Given the description of an element on the screen output the (x, y) to click on. 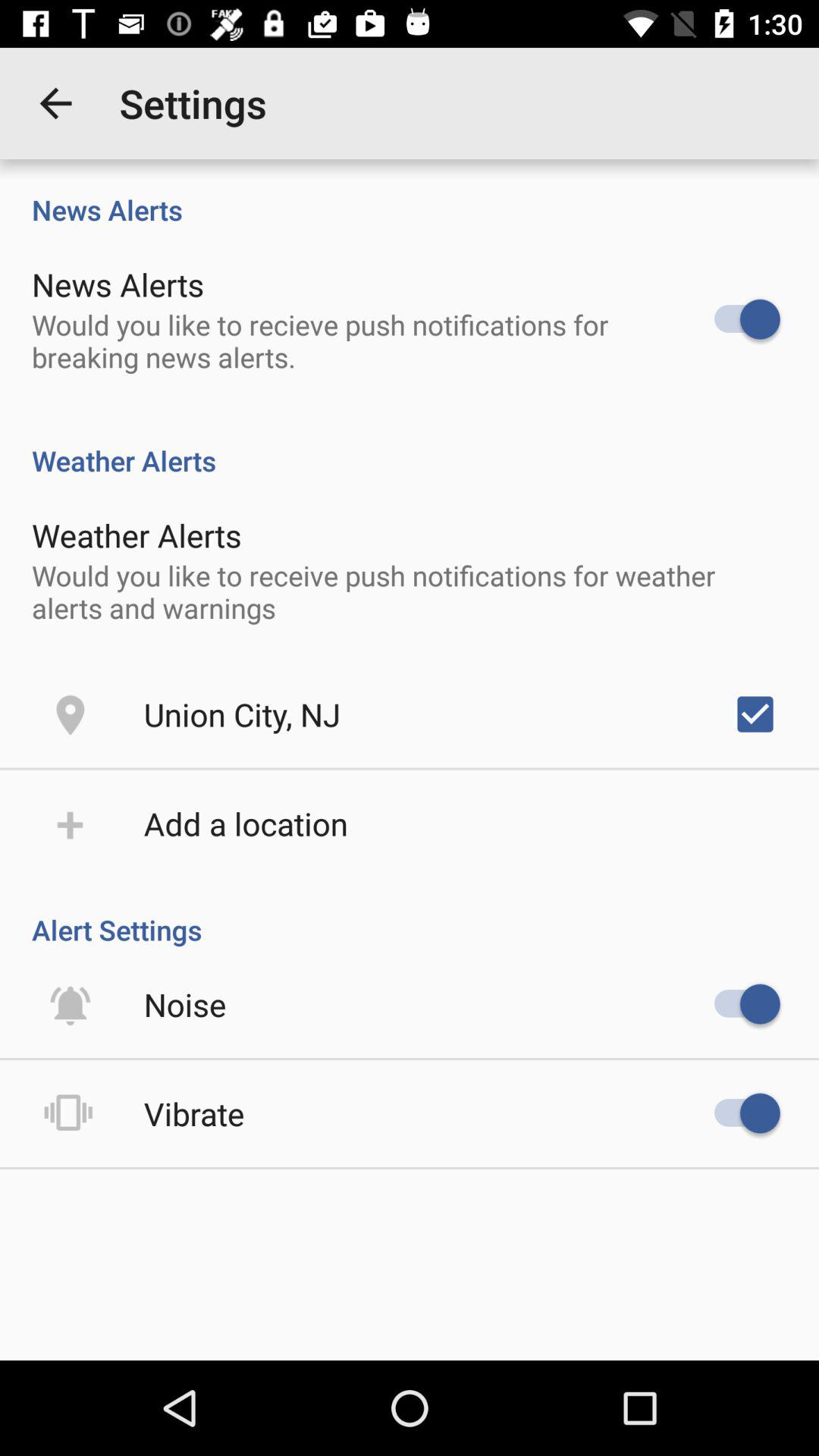
click the item below alert settings item (184, 1004)
